Given the description of an element on the screen output the (x, y) to click on. 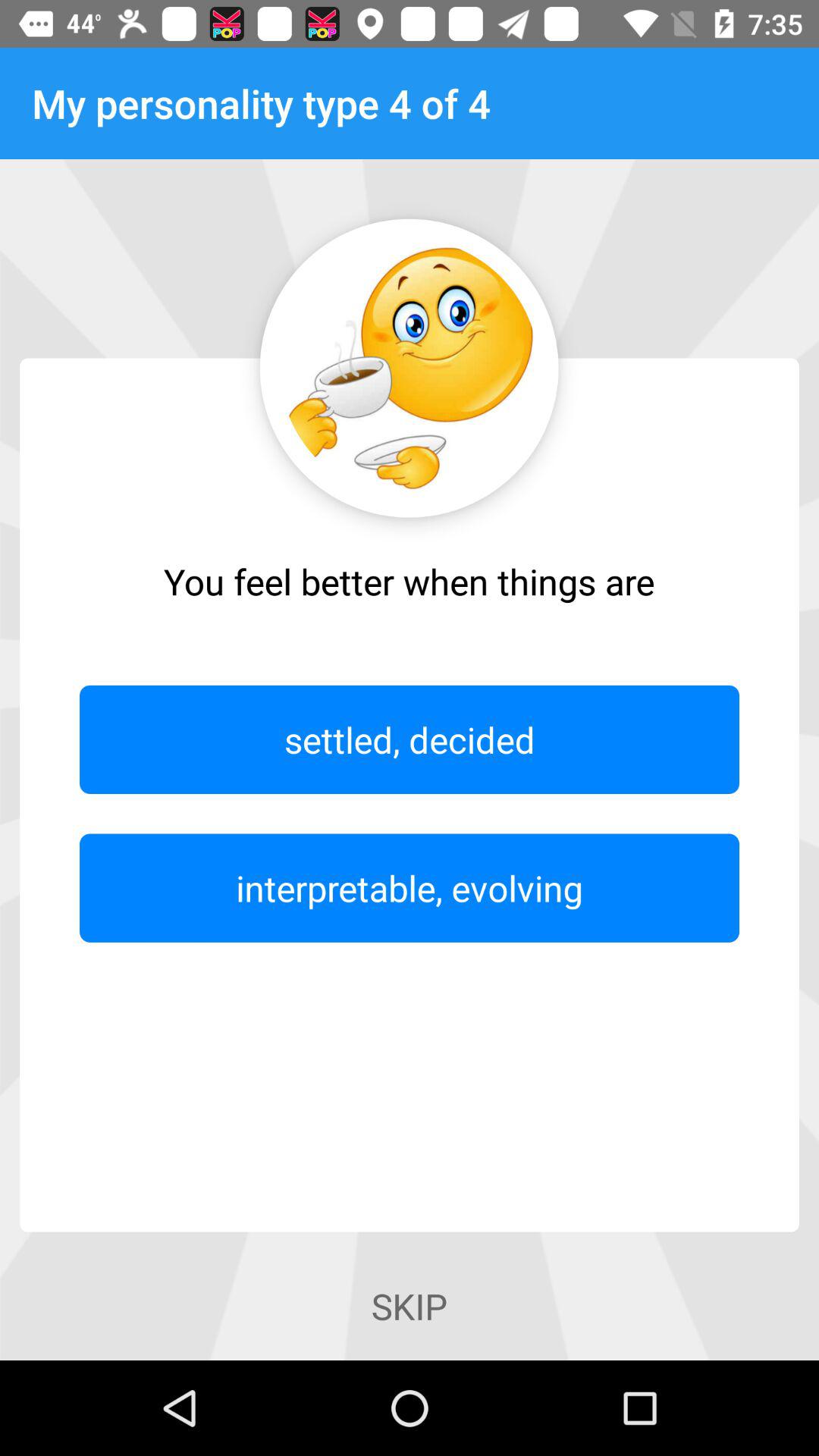
turn on skip (409, 1305)
